Given the description of an element on the screen output the (x, y) to click on. 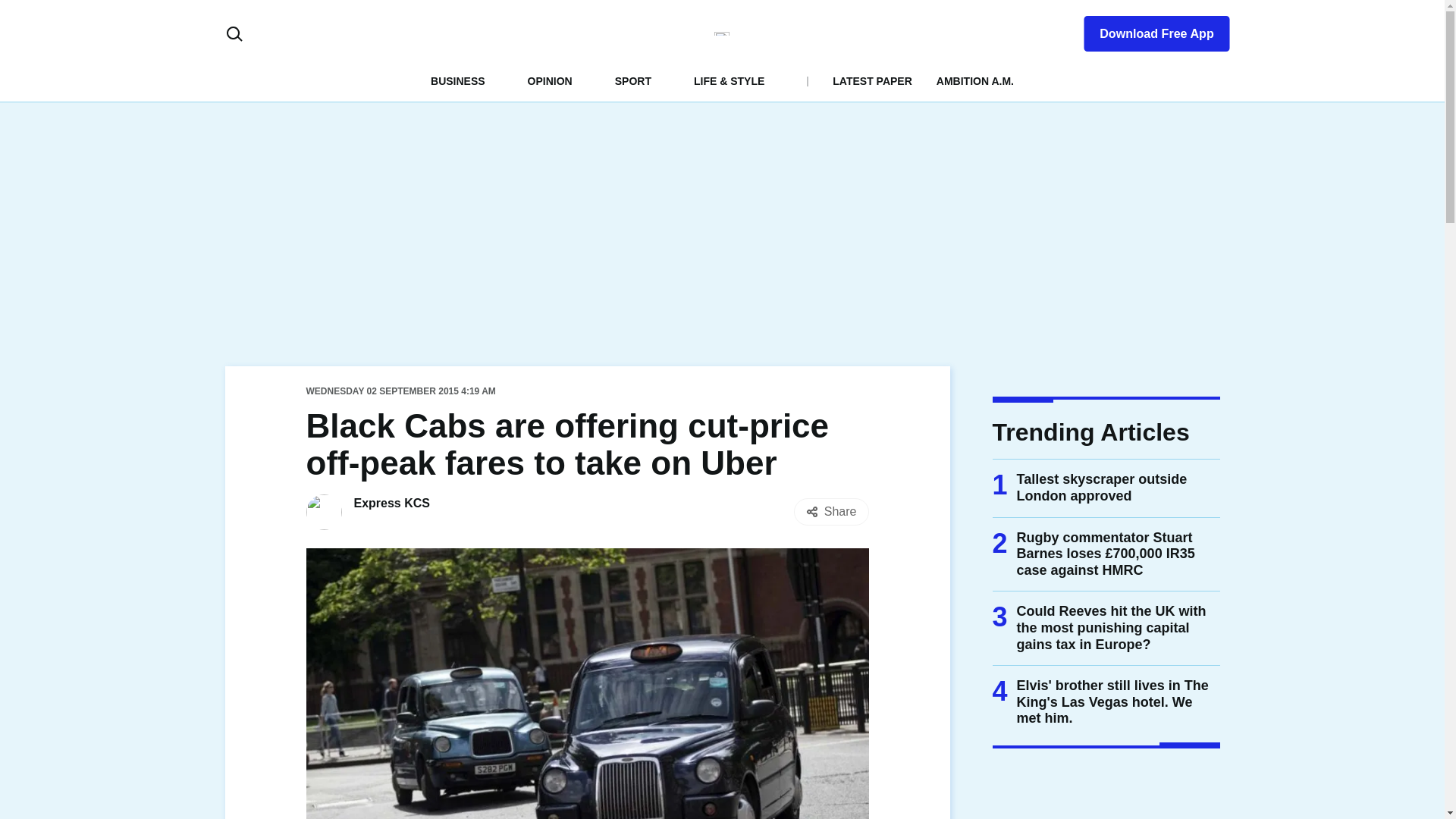
SPORT (632, 80)
Download Free App (1146, 30)
OPINION (549, 80)
CityAM (721, 33)
BUSINESS (457, 80)
